Given the description of an element on the screen output the (x, y) to click on. 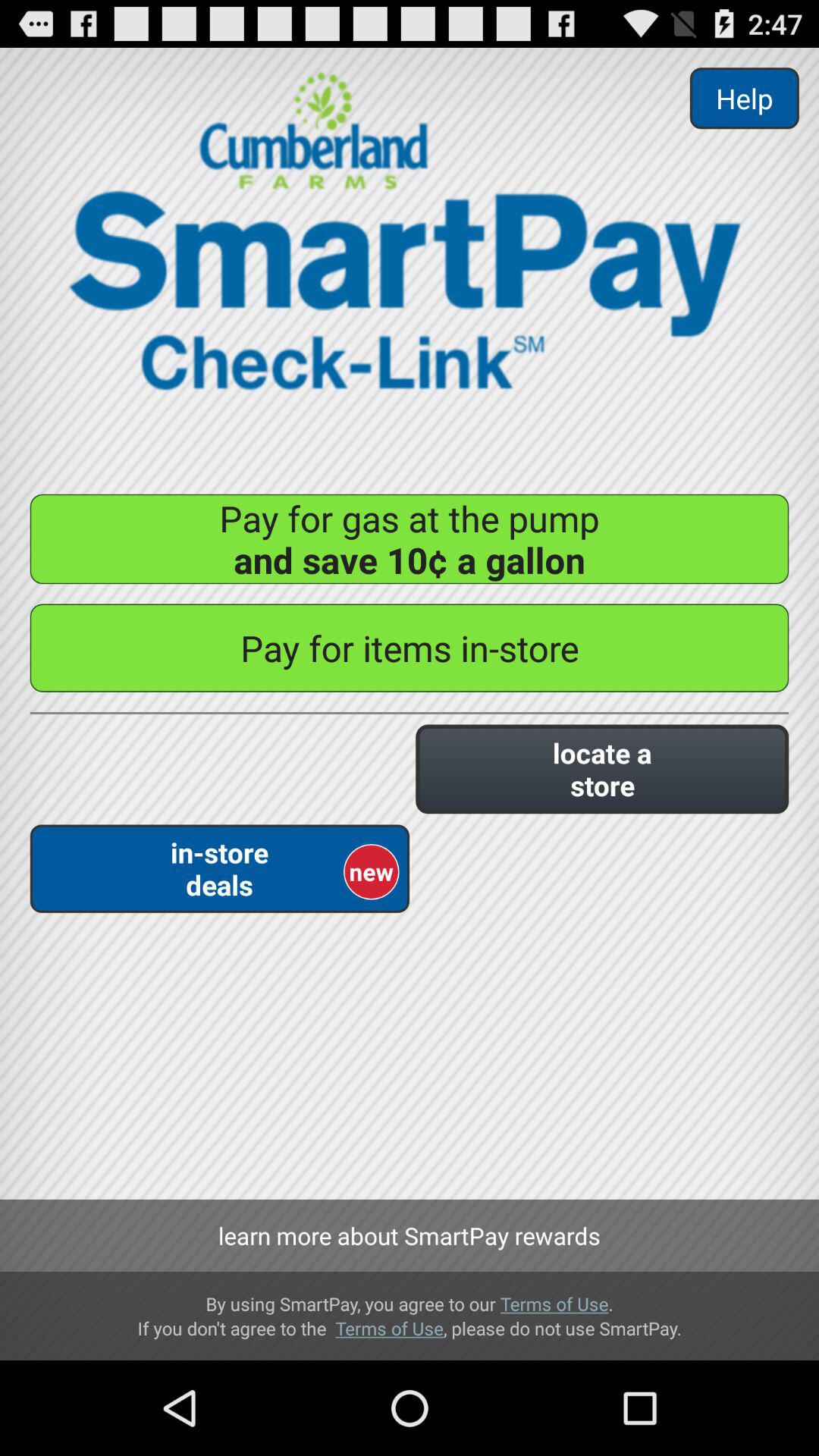
flip until help item (744, 98)
